Given the description of an element on the screen output the (x, y) to click on. 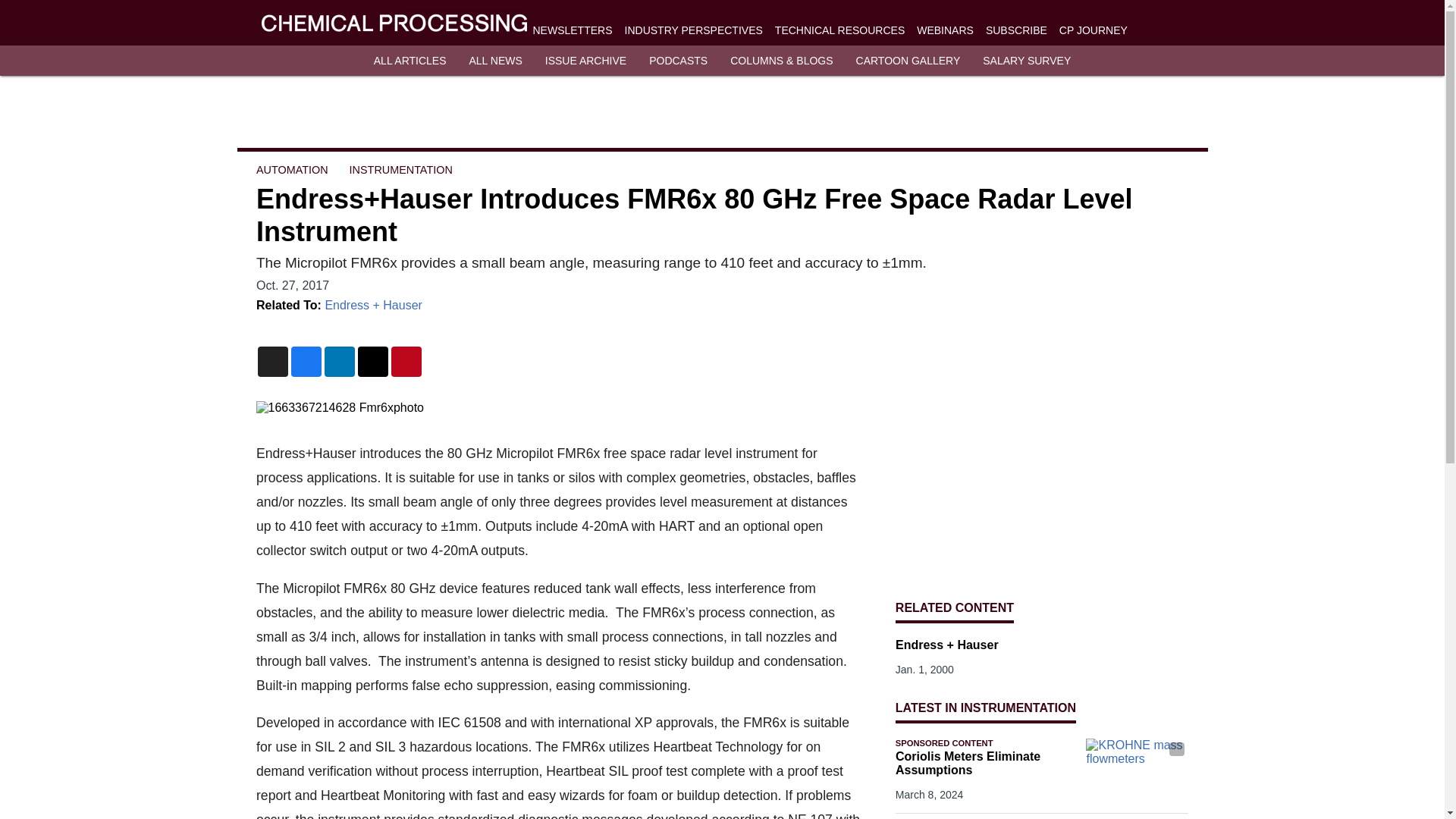
LATEST IN INSTRUMENTATION (985, 707)
CP JOURNEY (1092, 30)
ALL NEWS (494, 60)
INSTRUMENTATION (400, 169)
ALL ARTICLES (410, 60)
1663367214628 Fmr6xphoto (560, 407)
SALARY SURVEY (1026, 60)
WEBINARS (945, 30)
KROHNE mass flowmeters (1137, 766)
INDUSTRY PERSPECTIVES (693, 30)
TECHNICAL RESOURCES (839, 30)
SUBSCRIBE (1015, 30)
AUTOMATION (292, 169)
NEWSLETTERS (571, 30)
PODCASTS (678, 60)
